Given the description of an element on the screen output the (x, y) to click on. 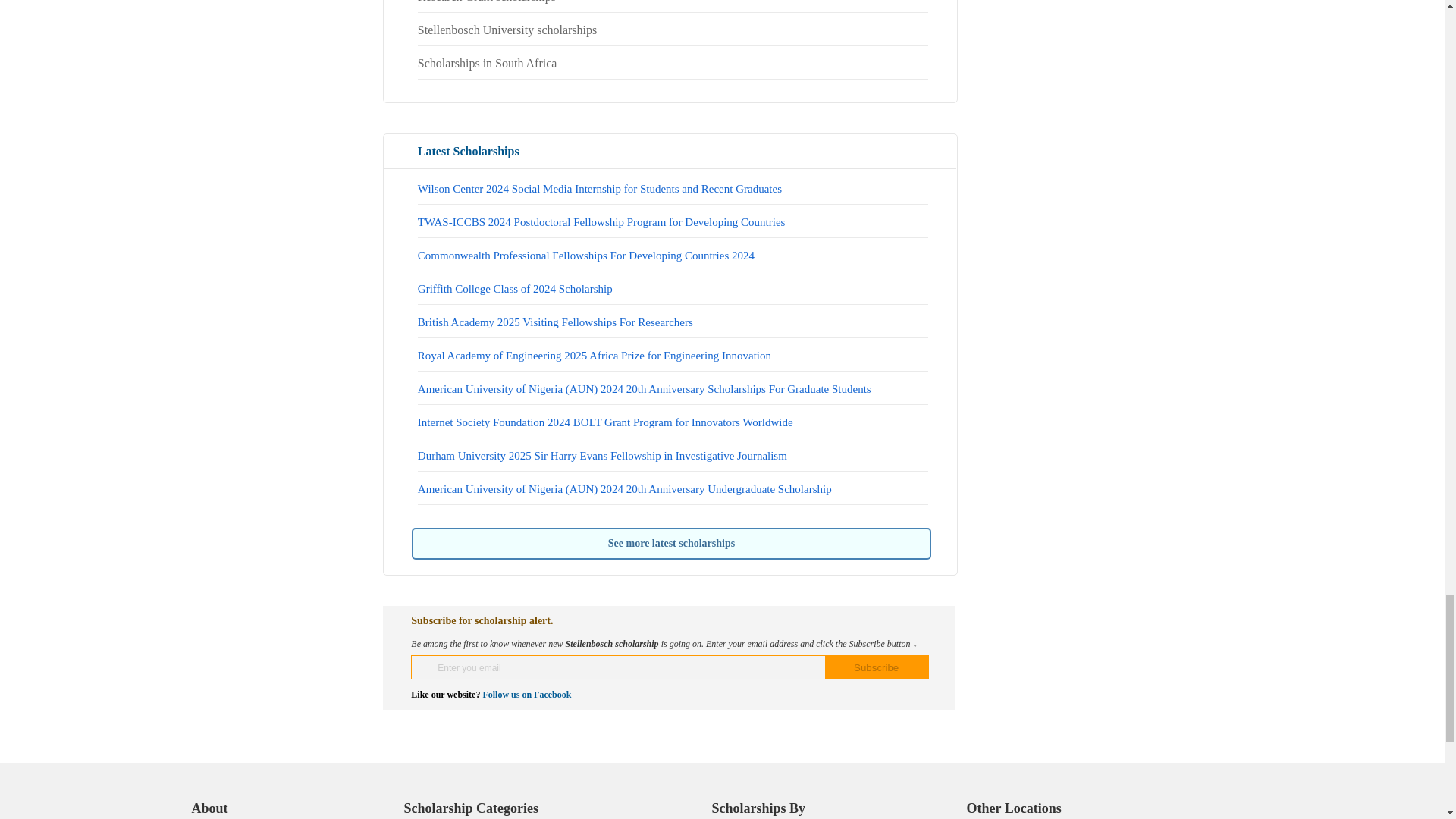
Subscribe (876, 667)
Research Grant scholarships (486, 2)
